Given the description of an element on the screen output the (x, y) to click on. 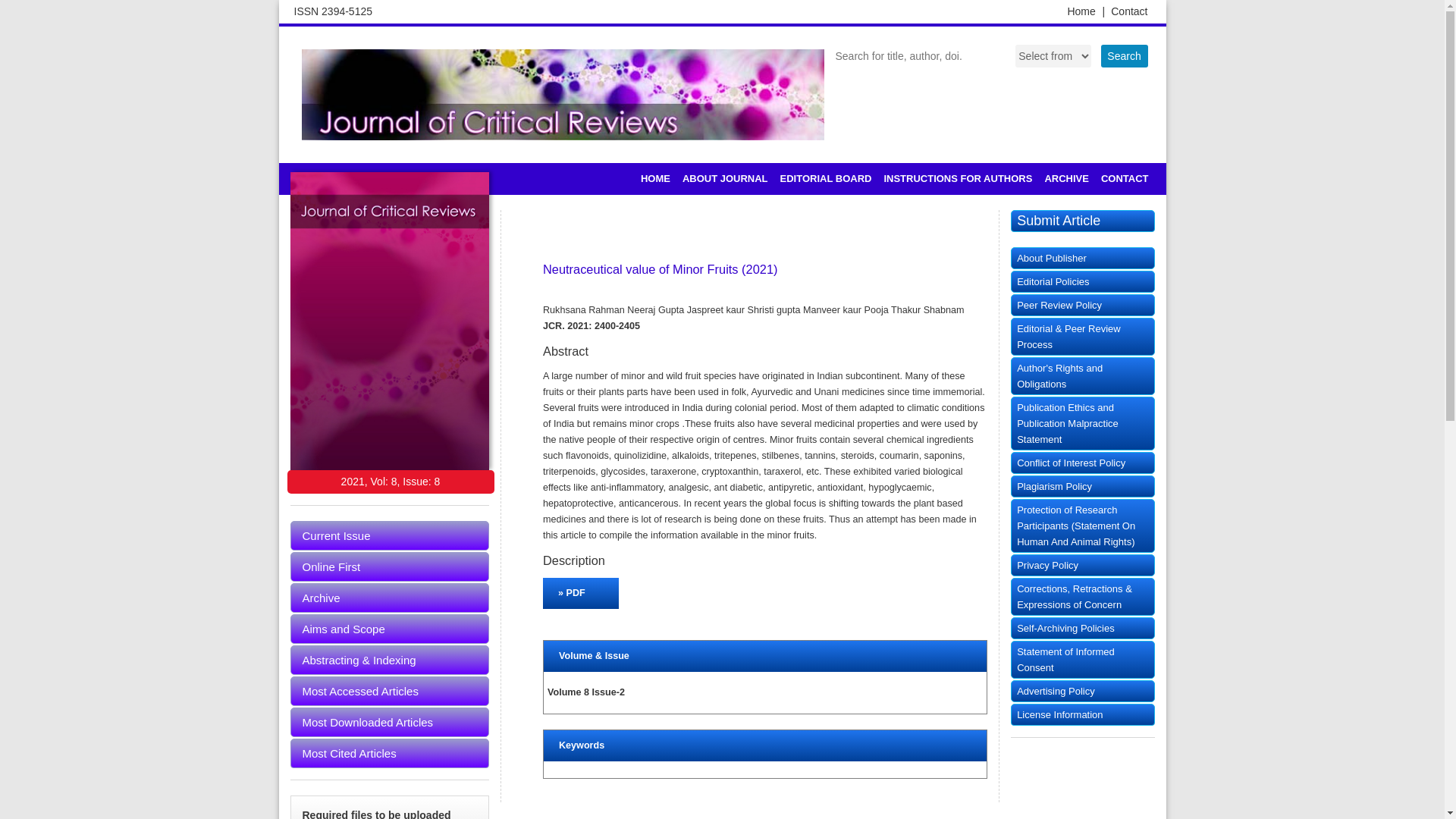
EDITORIAL BOARD (825, 178)
Submit Article (1082, 220)
Search (1124, 56)
CONTACT (1124, 178)
Privacy Policy (1082, 565)
Conflict of Interest Policy (1082, 463)
Contact (1129, 11)
Editorial Policies (1082, 281)
Peer Review Policy (1082, 305)
ABOUT JOURNAL (725, 178)
Most Accessed Articles (389, 690)
INSTRUCTIONS FOR AUTHORS (957, 178)
Plagiarism Policy (1082, 486)
Self-Archiving Policies (1082, 628)
Most Downloaded Articles (389, 722)
